Given the description of an element on the screen output the (x, y) to click on. 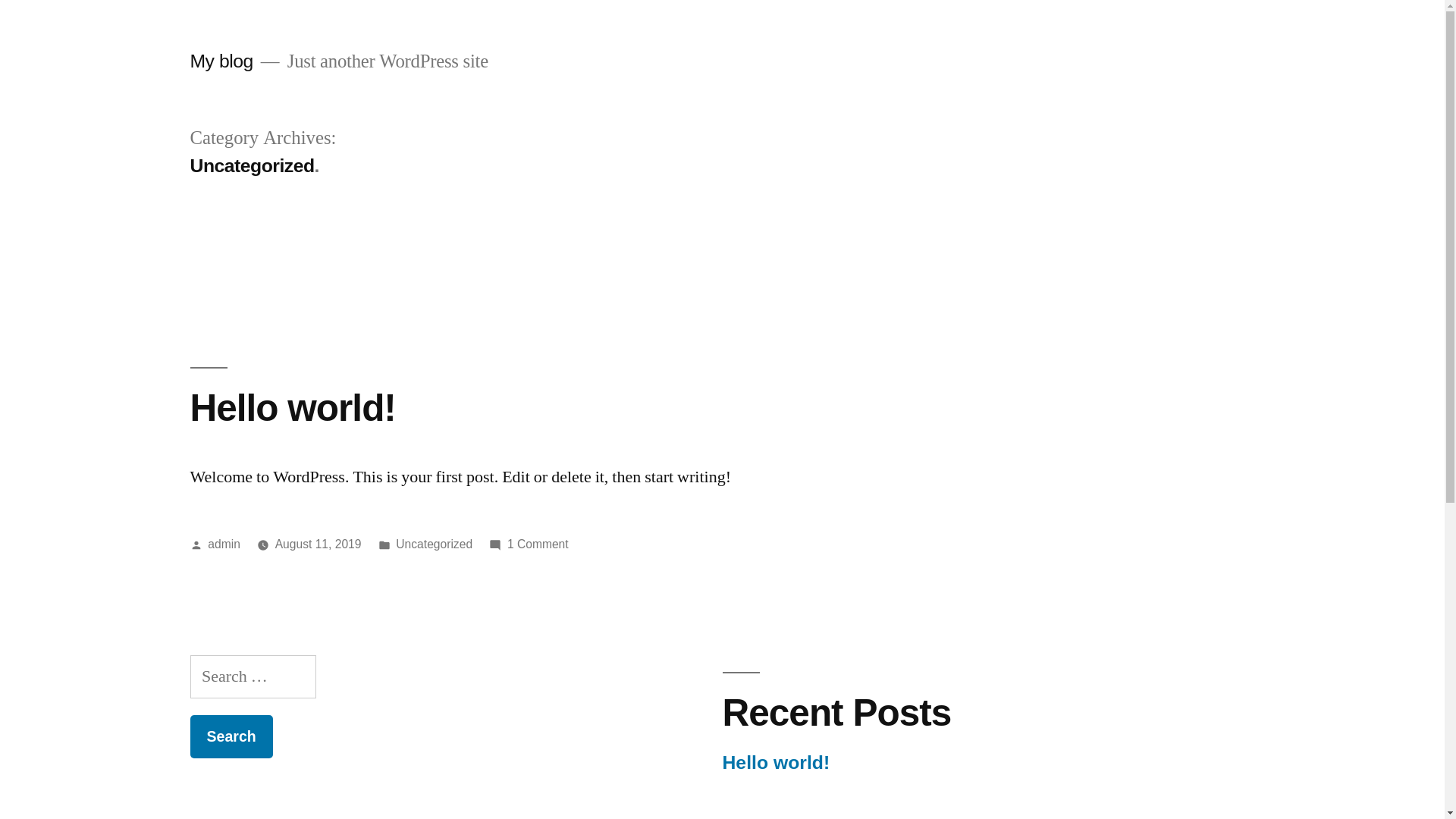
August 11, 2019 Element type: text (318, 543)
Search Element type: text (230, 736)
Hello world! Element type: text (775, 762)
My blog Element type: text (220, 60)
1 Comment
on Hello world! Element type: text (537, 543)
Uncategorized Element type: text (433, 543)
admin Element type: text (223, 543)
Hello world! Element type: text (292, 407)
